Given the description of an element on the screen output the (x, y) to click on. 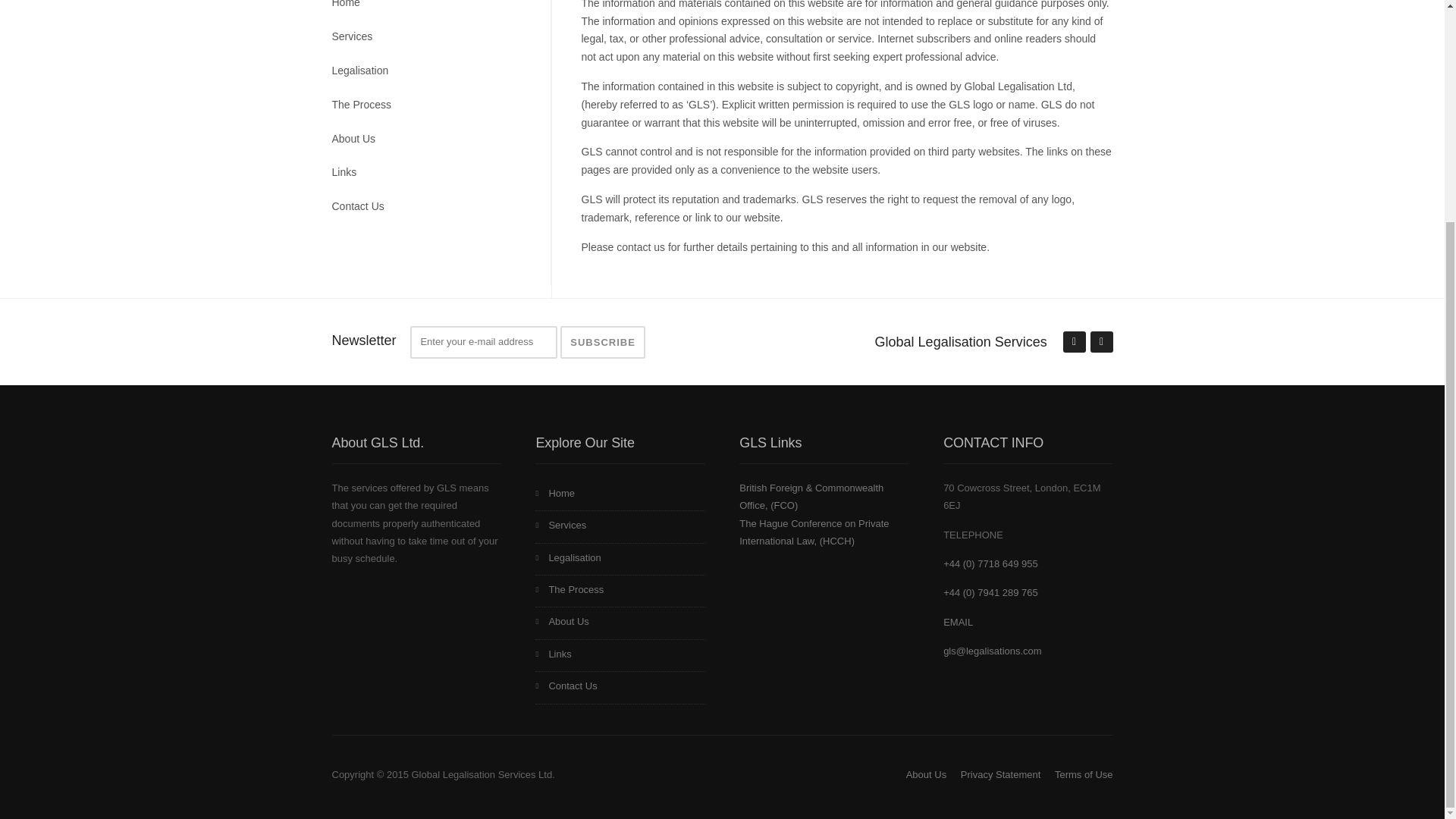
Linkedin (1073, 342)
About Us (426, 139)
Subscribe (602, 341)
Links (426, 173)
Home (619, 495)
Legalisation (426, 71)
Subscribe (602, 341)
Home (426, 10)
Contact Us (426, 207)
The Process (426, 105)
EMAIL (957, 622)
Links (619, 655)
Services (619, 526)
About Us (619, 623)
Legalisation (619, 559)
